Given the description of an element on the screen output the (x, y) to click on. 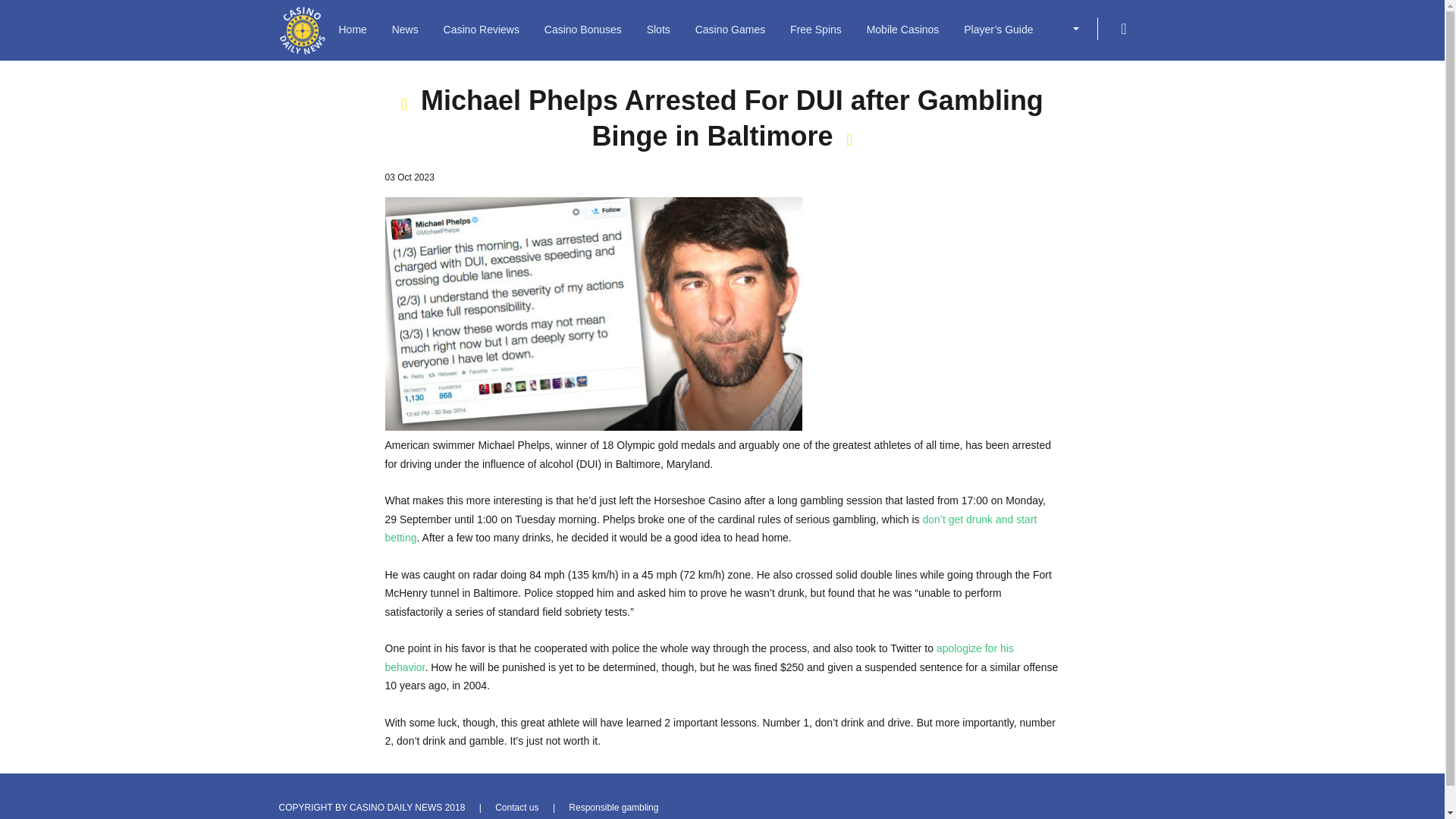
Contact us (516, 807)
Casino Games (730, 28)
Casino Bonuses (583, 28)
Home (352, 28)
apologize for his behavior (699, 657)
News (405, 28)
Responsible gambling (613, 807)
Mobile Casinos (902, 28)
Free Spins (816, 28)
The Downsides of Gaming (710, 528)
Casino Reviews (481, 28)
